Given the description of an element on the screen output the (x, y) to click on. 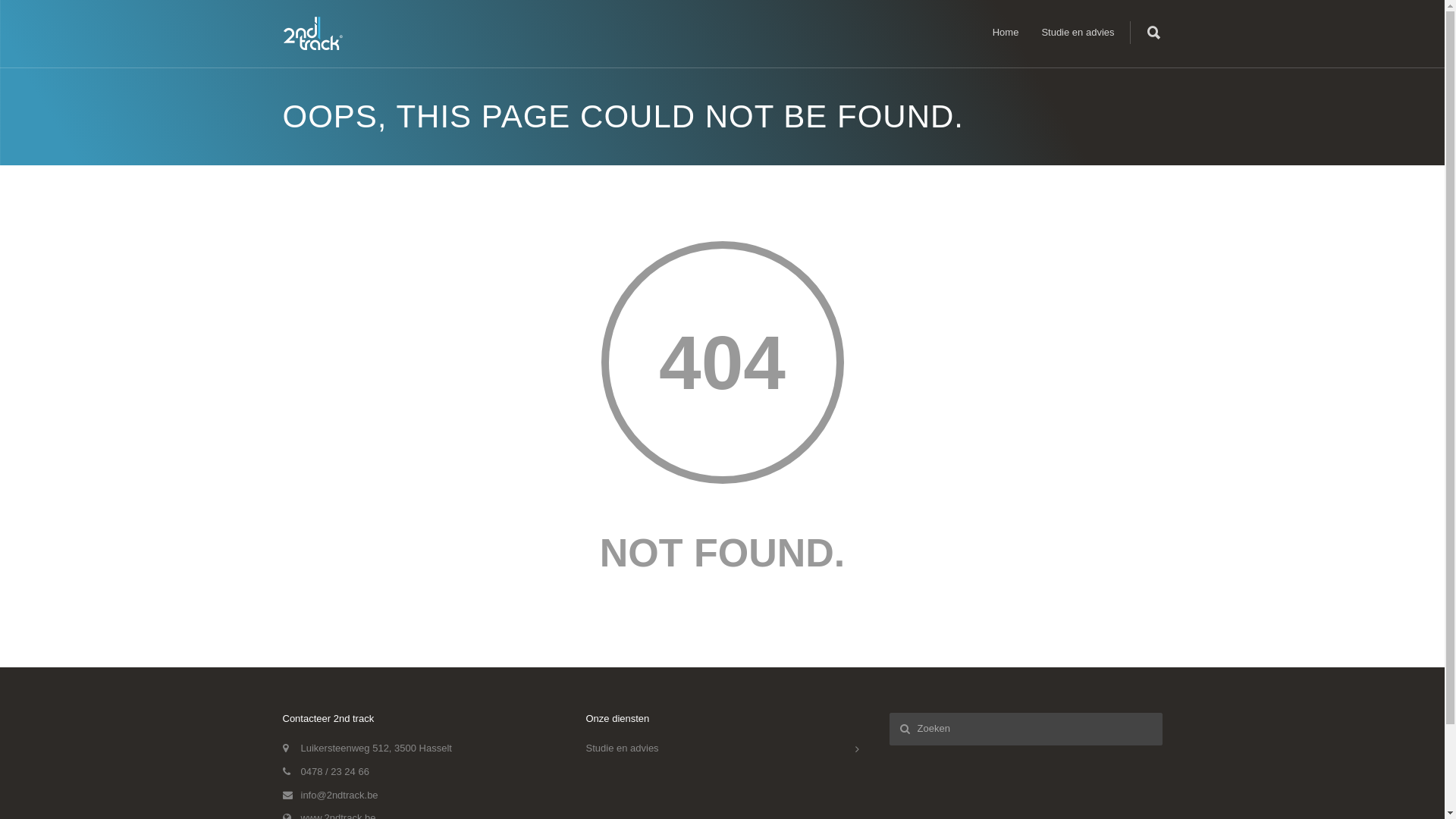
Studie en advies Element type: text (717, 748)
Home Element type: text (1005, 31)
info@2ndtrack.be Element type: text (338, 794)
Studie en advies Element type: text (1077, 31)
Zoeken Element type: text (38, 16)
